Given the description of an element on the screen output the (x, y) to click on. 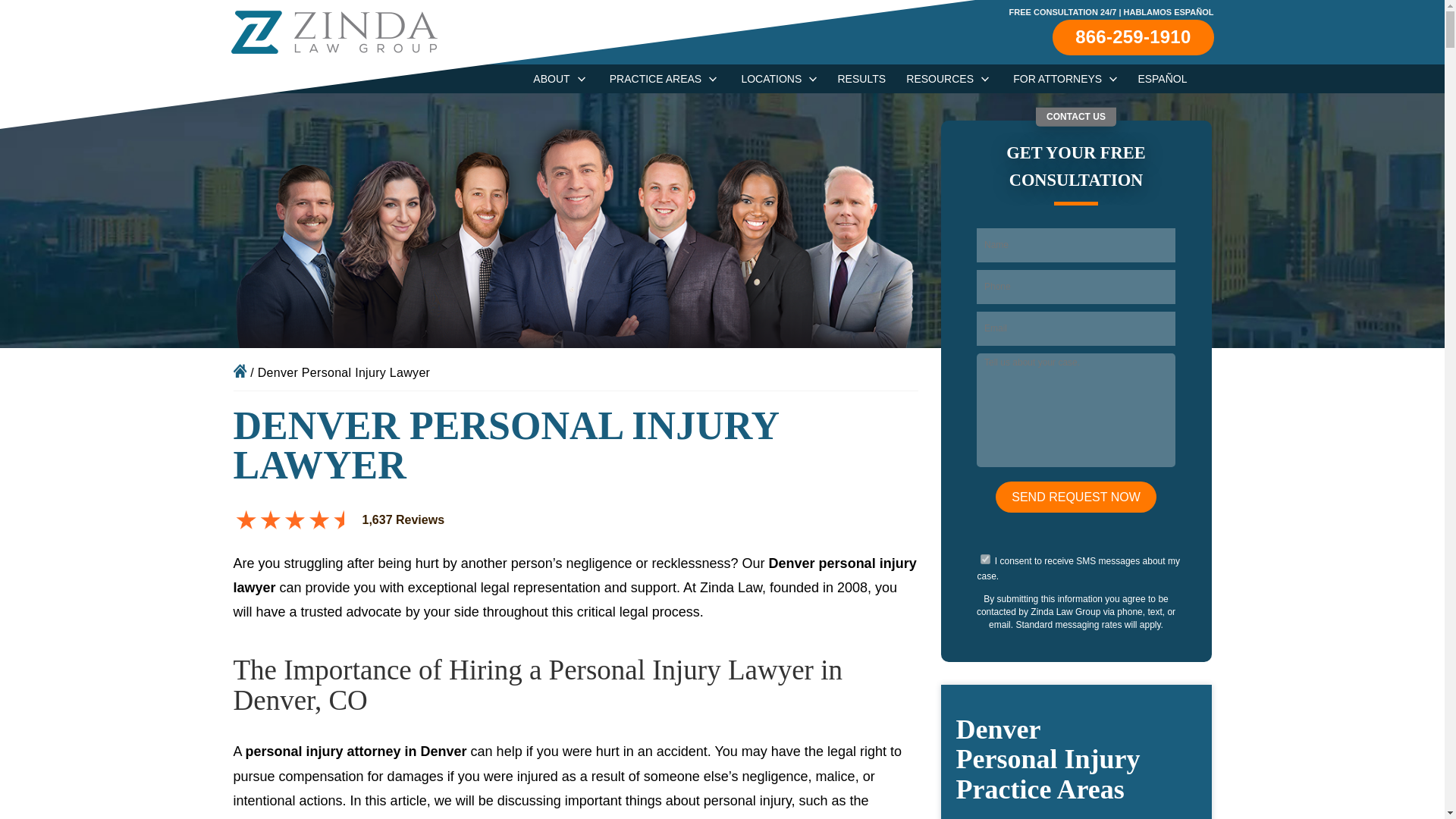
1 (984, 559)
Send Request Now (1075, 496)
Zinda Law Group, PLLC (333, 32)
Call to Zinda Law Group, PLLC (1132, 36)
866-259-1910 (1132, 36)
PRACTICE AREAS (655, 78)
ABOUT (550, 78)
LOCATIONS (771, 78)
Denver Personal Injury Lawyer (655, 78)
